Given the description of an element on the screen output the (x, y) to click on. 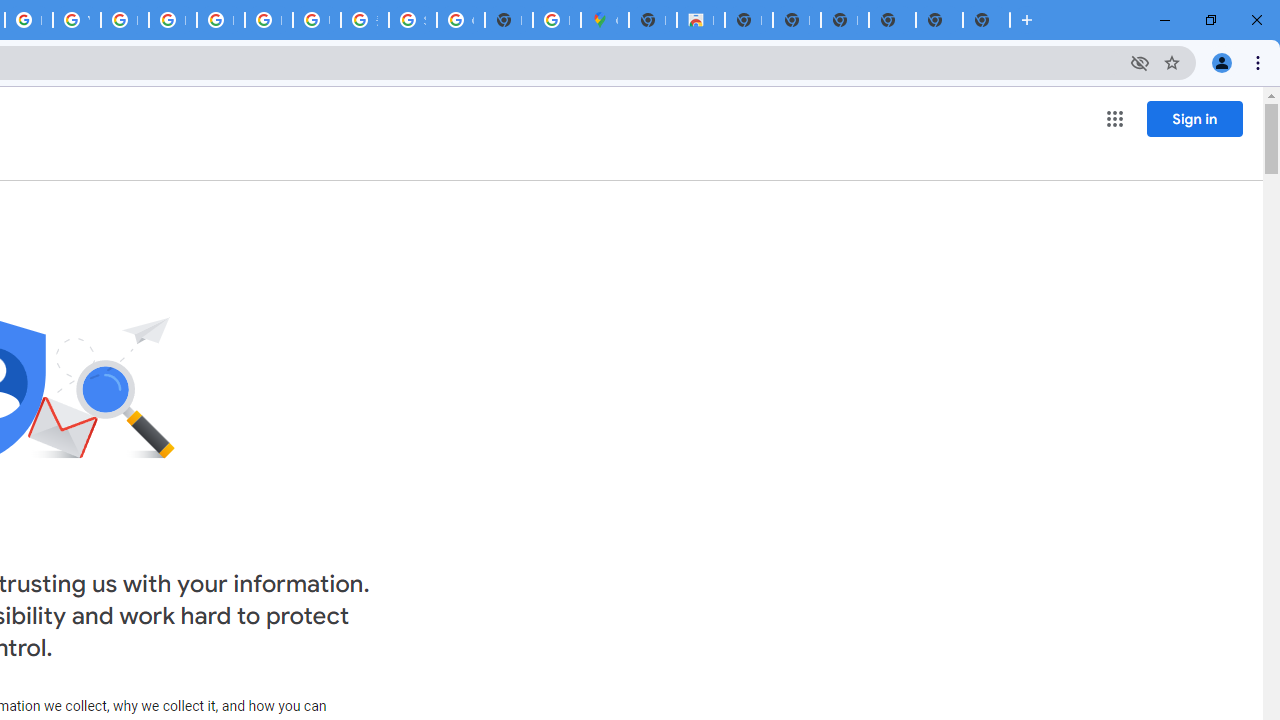
YouTube (76, 20)
New Tab (652, 20)
New Tab (985, 20)
New Tab (892, 20)
Explore new street-level details - Google Maps Help (556, 20)
